Given the description of an element on the screen output the (x, y) to click on. 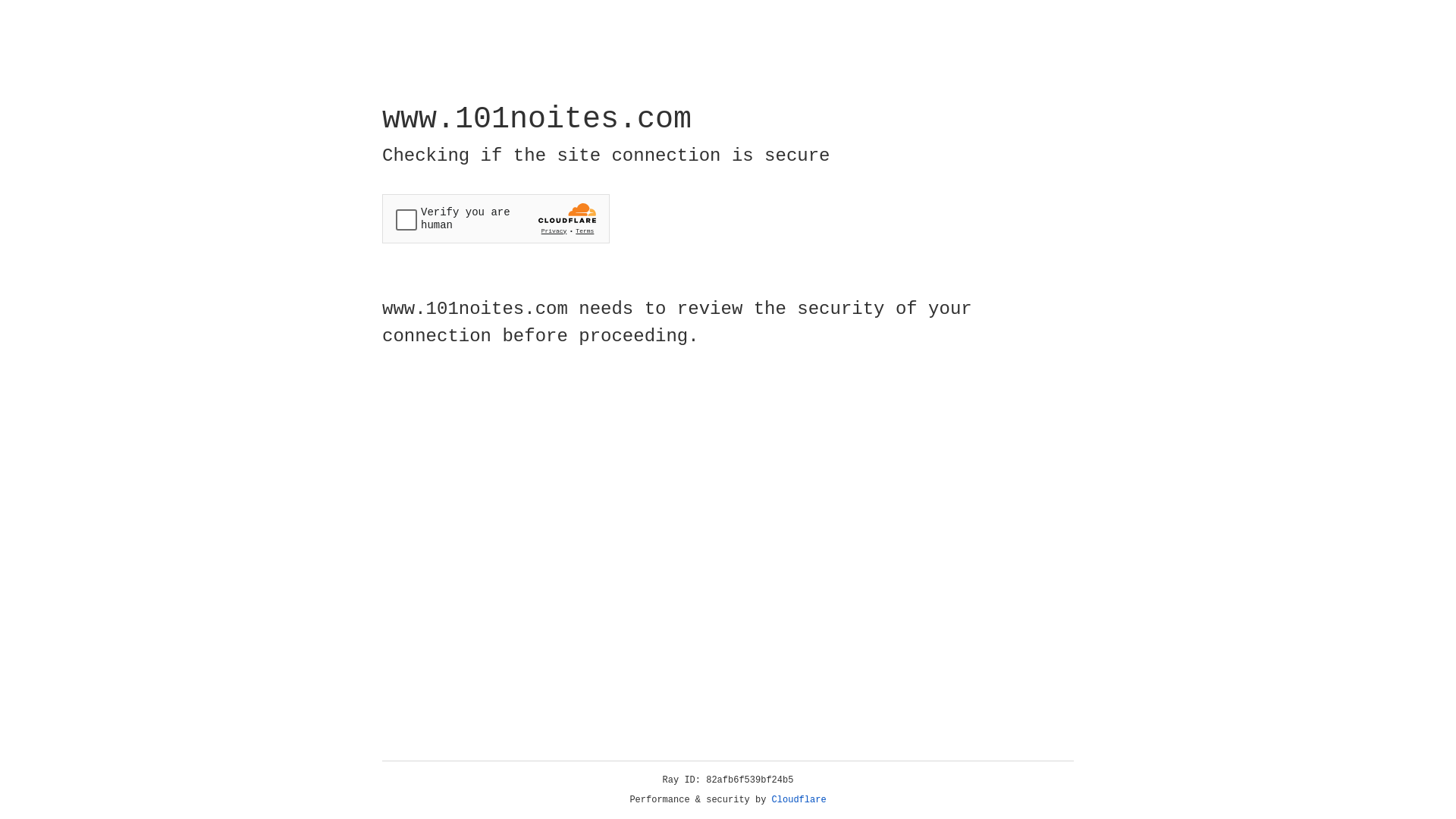
Widget containing a Cloudflare security challenge Element type: hover (495, 218)
Cloudflare Element type: text (798, 799)
